Given the description of an element on the screen output the (x, y) to click on. 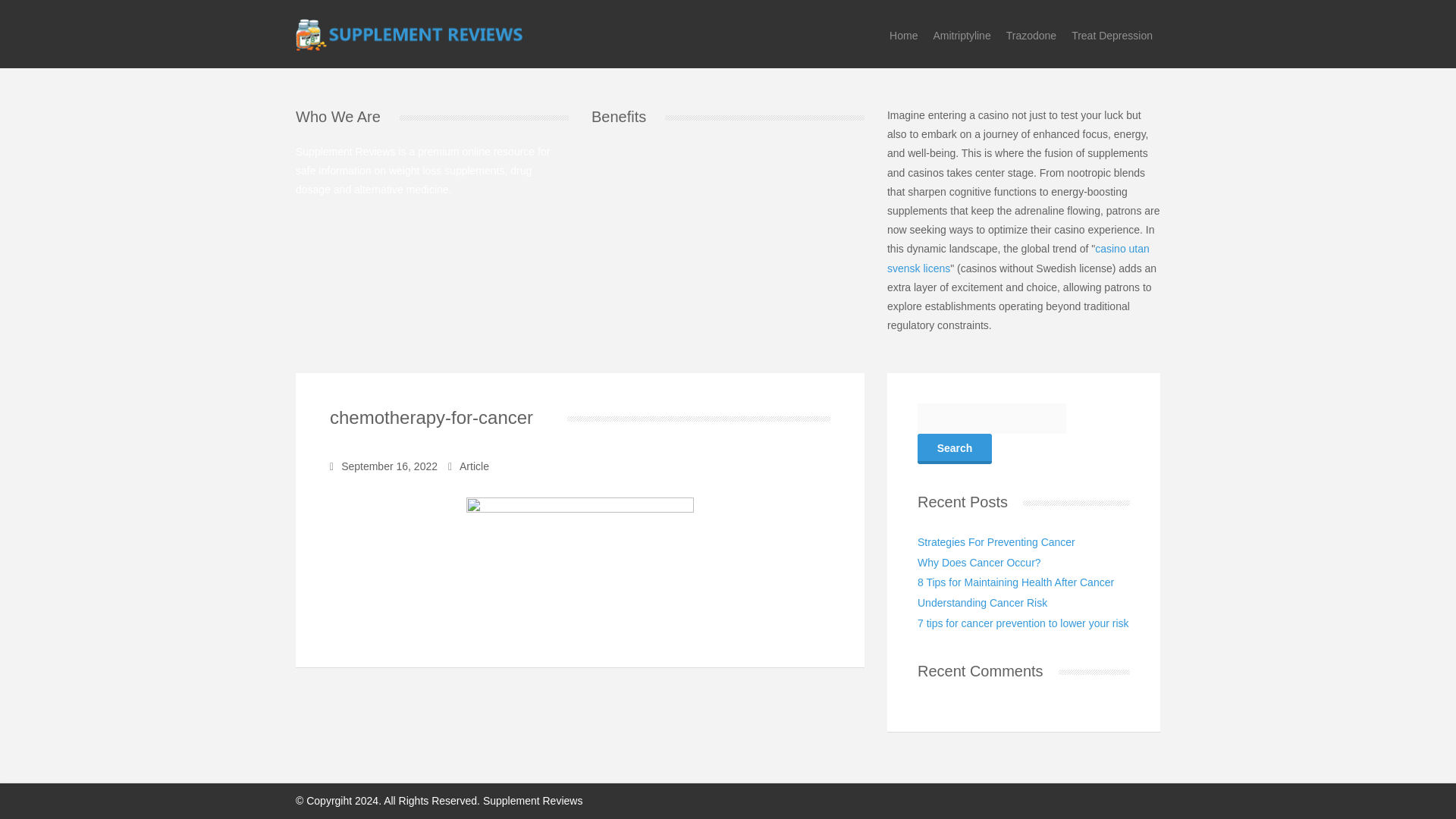
8 Tips for Maintaining Health After Cancer (1015, 582)
Treat Depression (1112, 36)
7 tips for cancer prevention to lower your risk (1023, 623)
Understanding Cancer Risk (981, 603)
casino utan svensk licens (1018, 257)
Search (954, 449)
Supplement Reviews (408, 33)
Trazodone (1031, 36)
Search (954, 449)
Amitriptyline (960, 36)
